Given the description of an element on the screen output the (x, y) to click on. 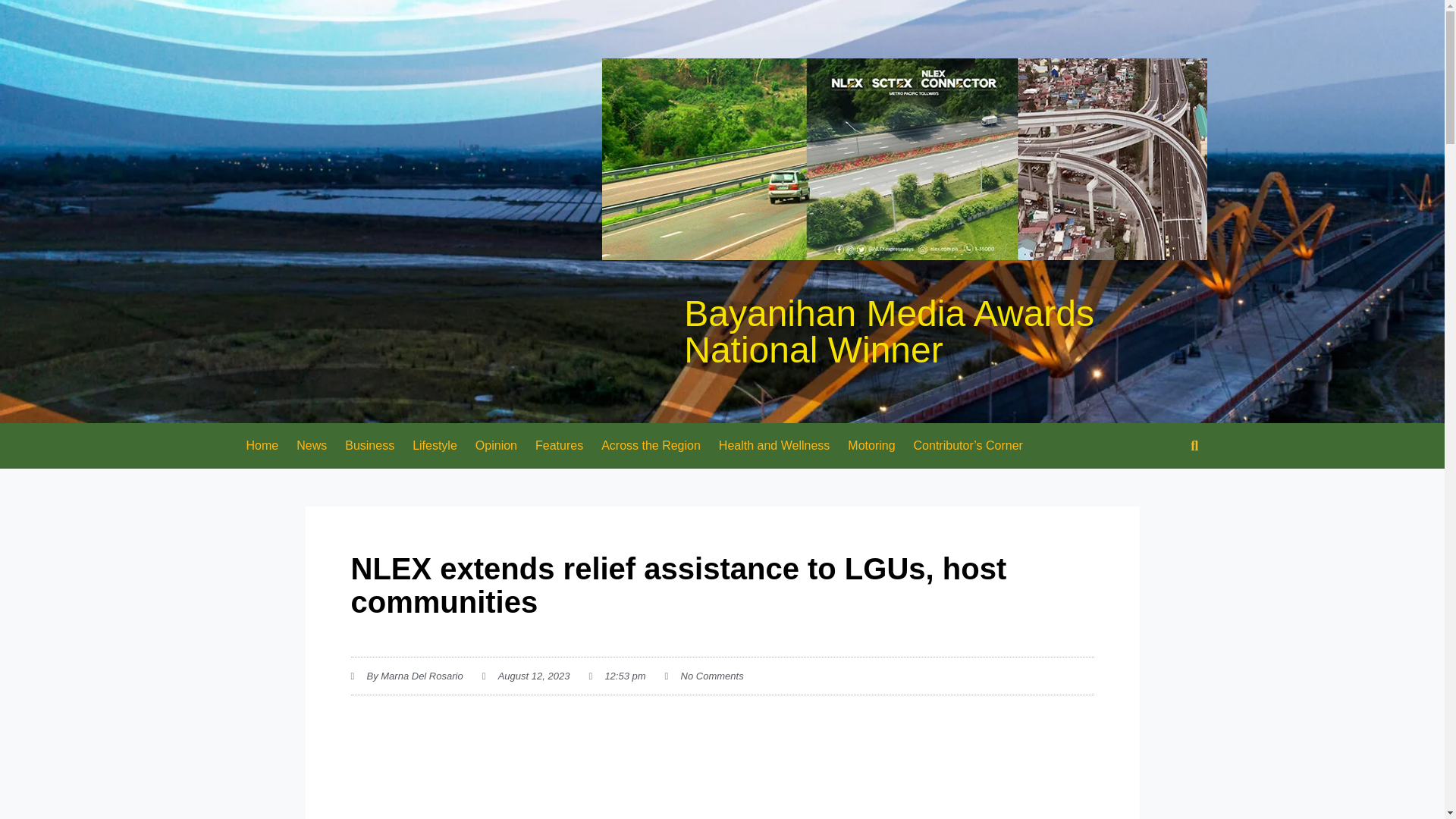
News (311, 445)
August 12, 2023 (525, 676)
Across the Region (651, 445)
By Marna Del Rosario (406, 676)
Features (558, 445)
Home (260, 445)
Health and Wellness (774, 445)
Opinion (495, 445)
Lifestyle (434, 445)
Business (369, 445)
Motoring (871, 445)
No Comments (704, 676)
